Given the description of an element on the screen output the (x, y) to click on. 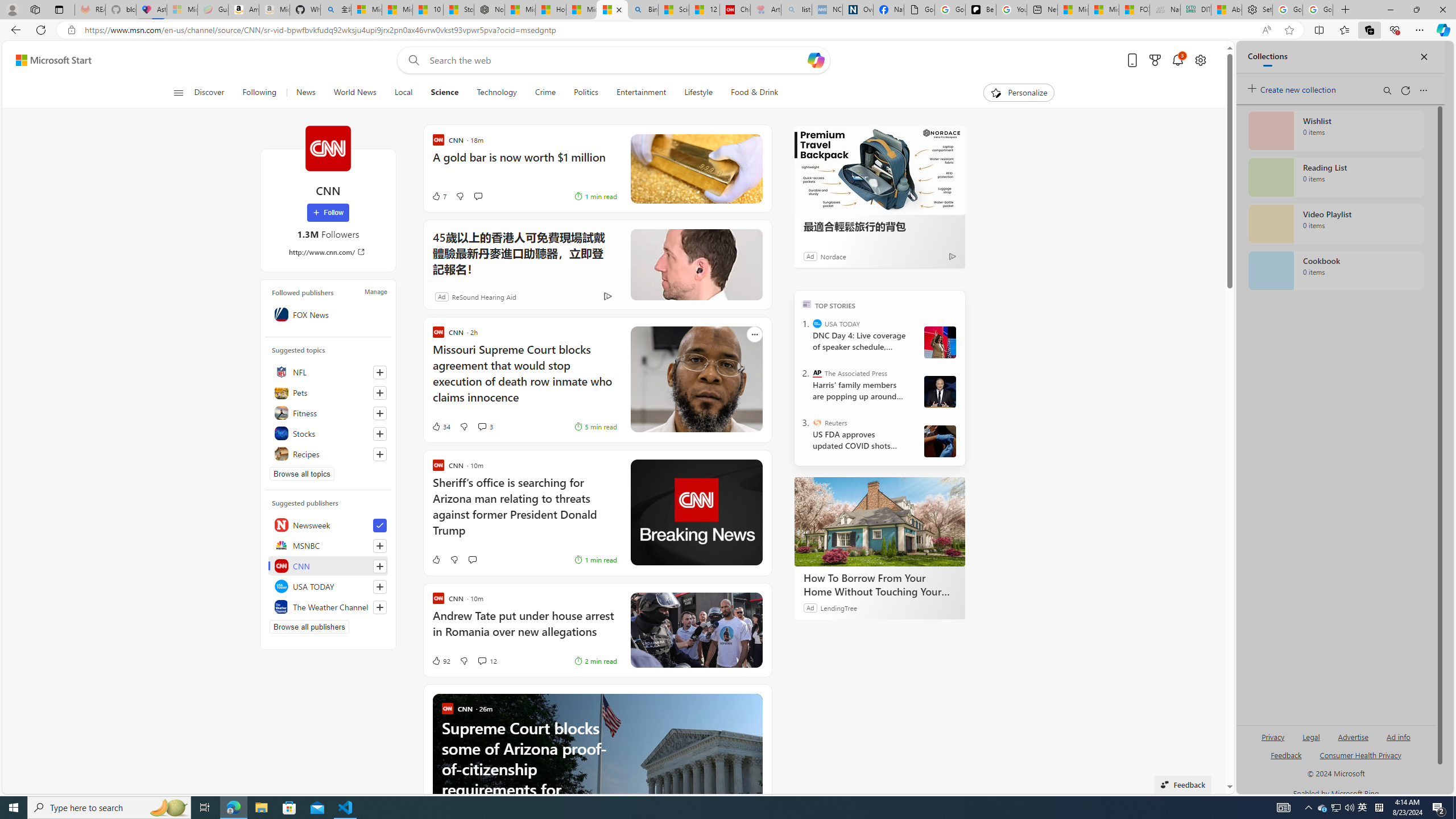
How I Got Rid of Microsoft Edge's Unnecessary Features (549, 9)
Follow this source (379, 607)
TOP (806, 302)
Fitness (327, 412)
